Given the description of an element on the screen output the (x, y) to click on. 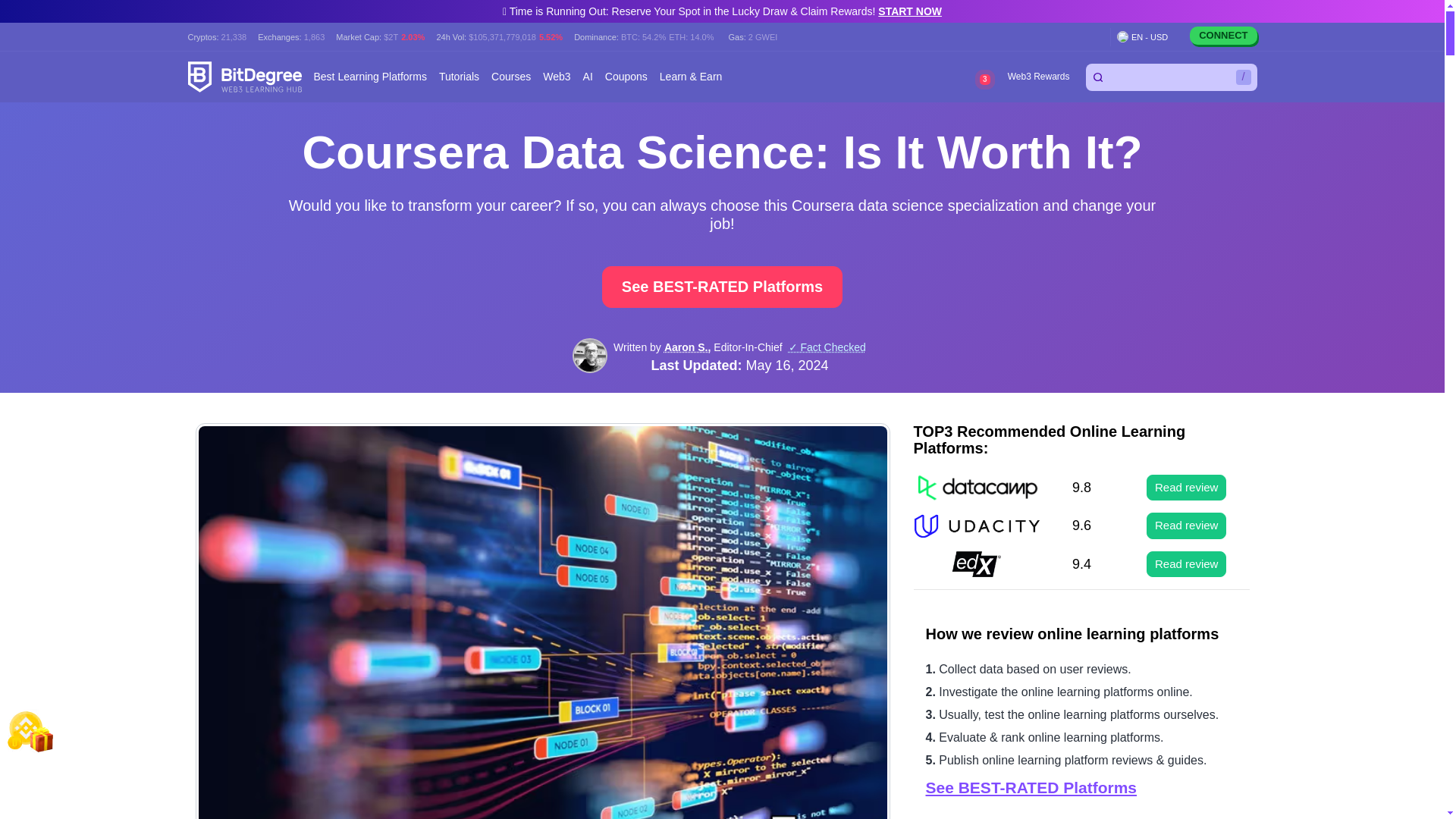
Coupons (626, 76)
Aaron S. Editor-In-Chief (589, 355)
Web3 (556, 76)
Best Learning Platforms (370, 76)
2 GWEI (762, 35)
START NOW (909, 10)
Web3 Rewards (1037, 77)
1,863 (314, 35)
Aaron S., (686, 347)
Tutorials (459, 76)
